Given the description of an element on the screen output the (x, y) to click on. 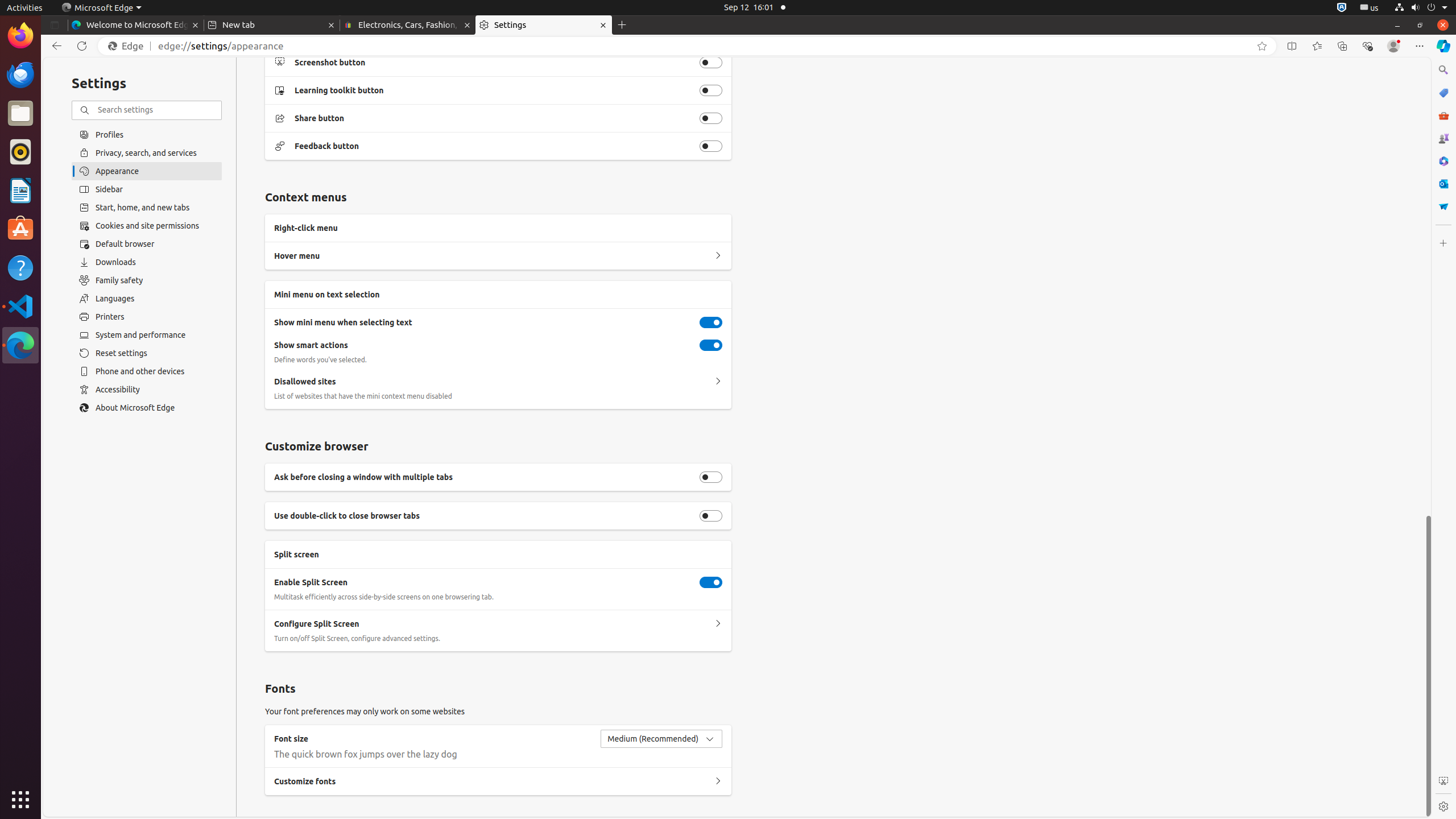
Reset settings Element type: tree-item (146, 353)
Share button Element type: check-box (710, 117)
Learning toolkit button Element type: check-box (710, 90)
Games Element type: push-button (1443, 137)
Phone and other devices Element type: tree-item (146, 371)
